Given the description of an element on the screen output the (x, y) to click on. 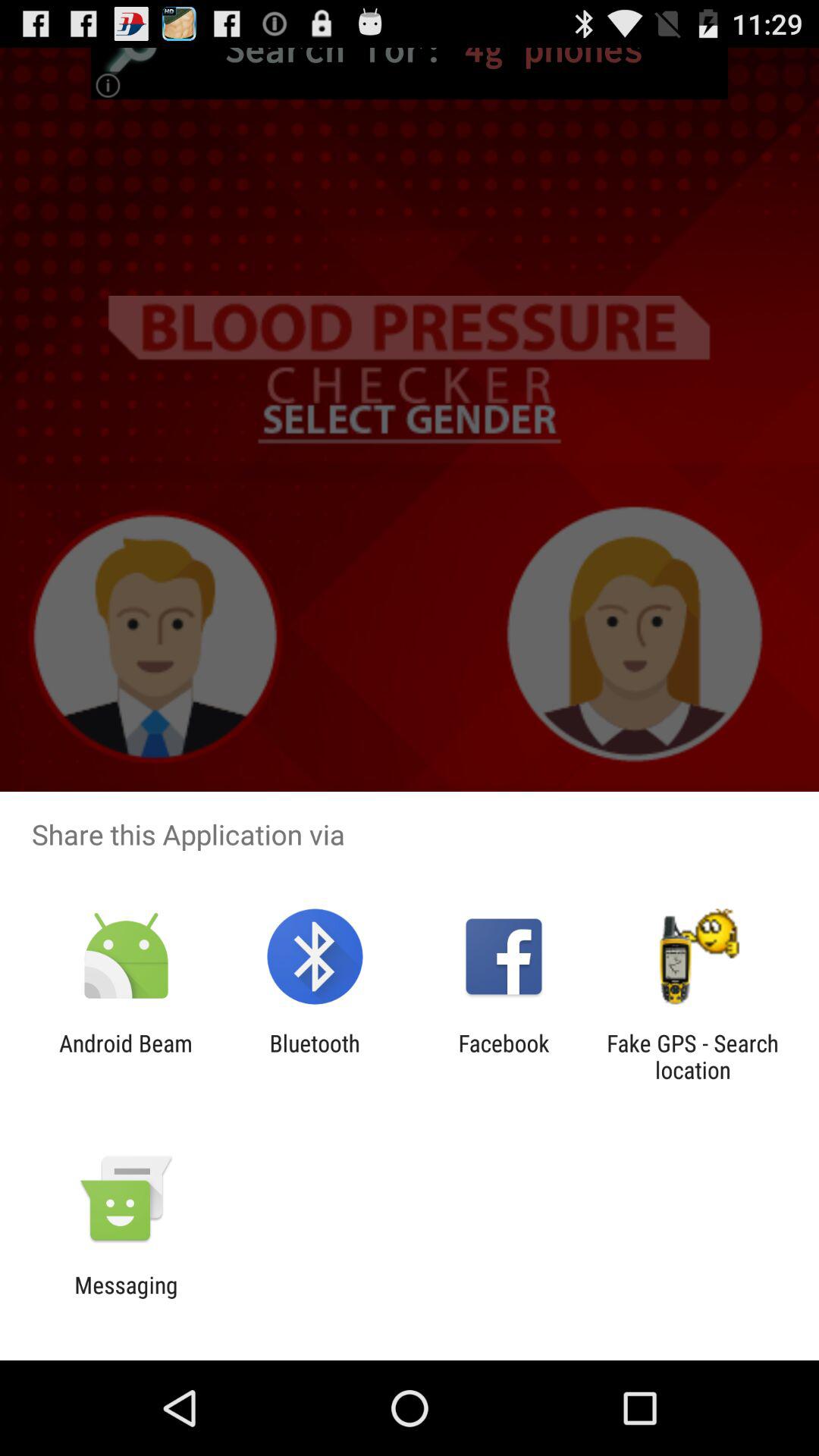
jump to the android beam app (125, 1056)
